Given the description of an element on the screen output the (x, y) to click on. 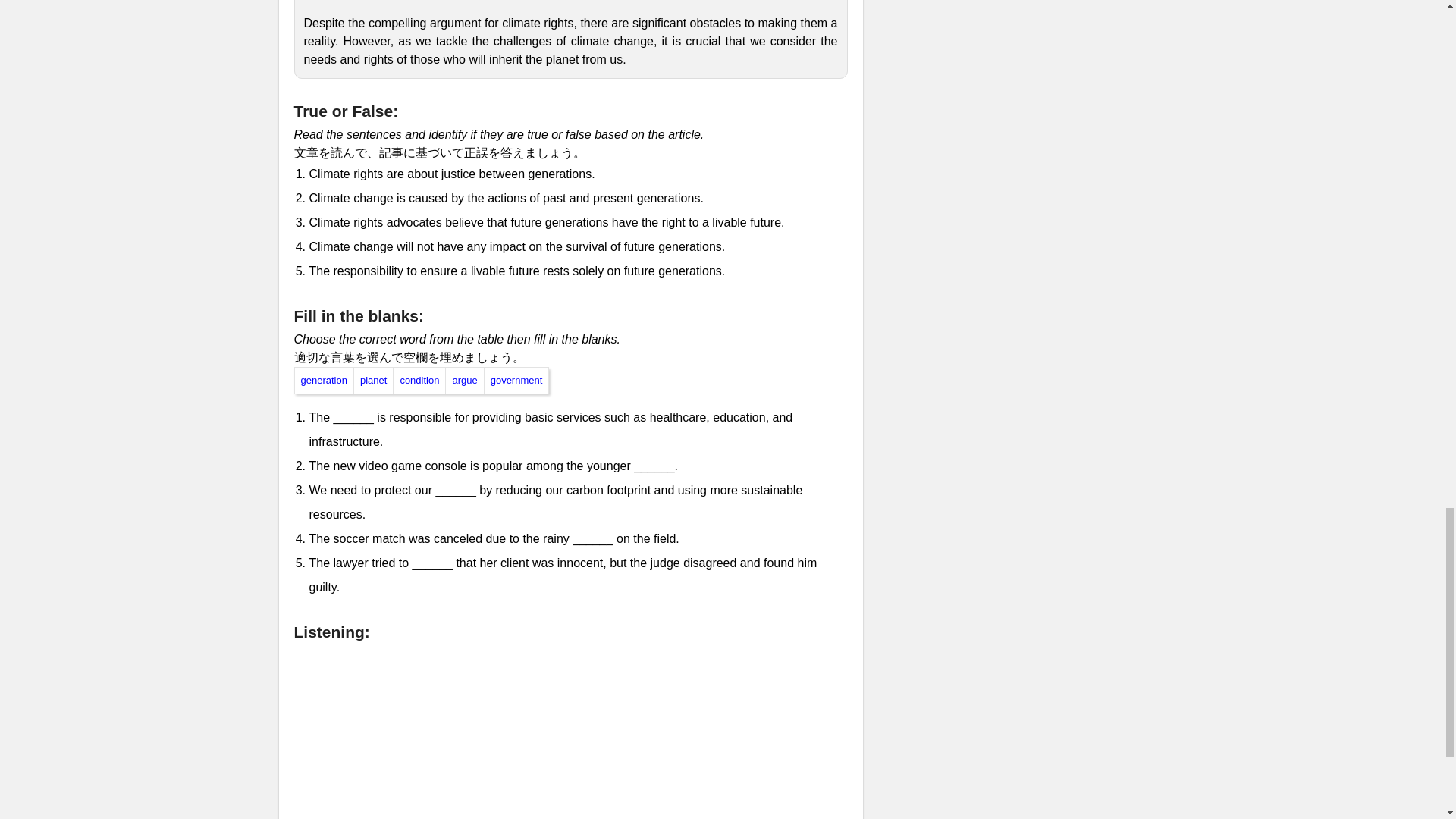
YouTube video player (570, 733)
